Given the description of an element on the screen output the (x, y) to click on. 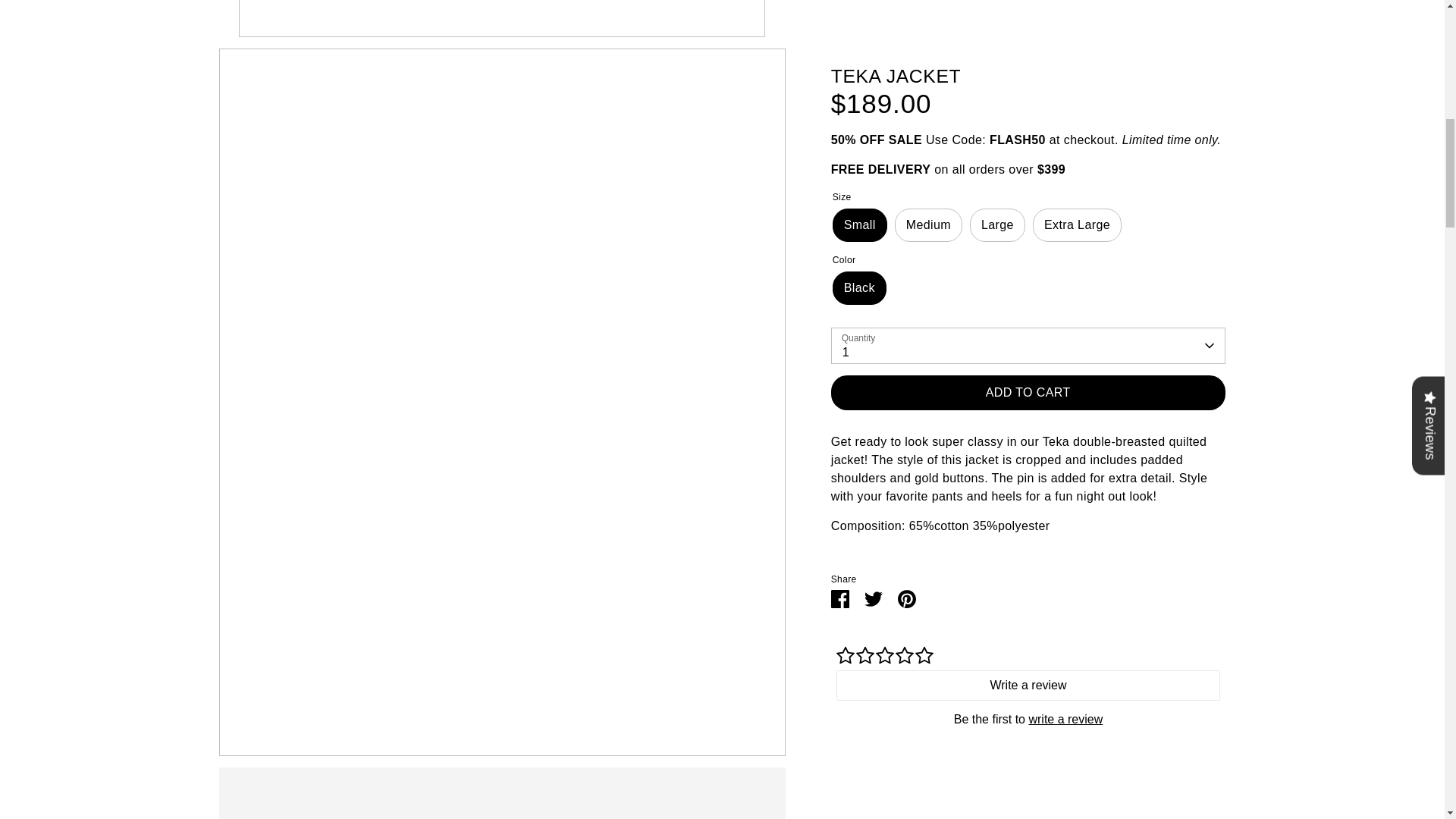
Product reviews widget (1028, 31)
